Given the description of an element on the screen output the (x, y) to click on. 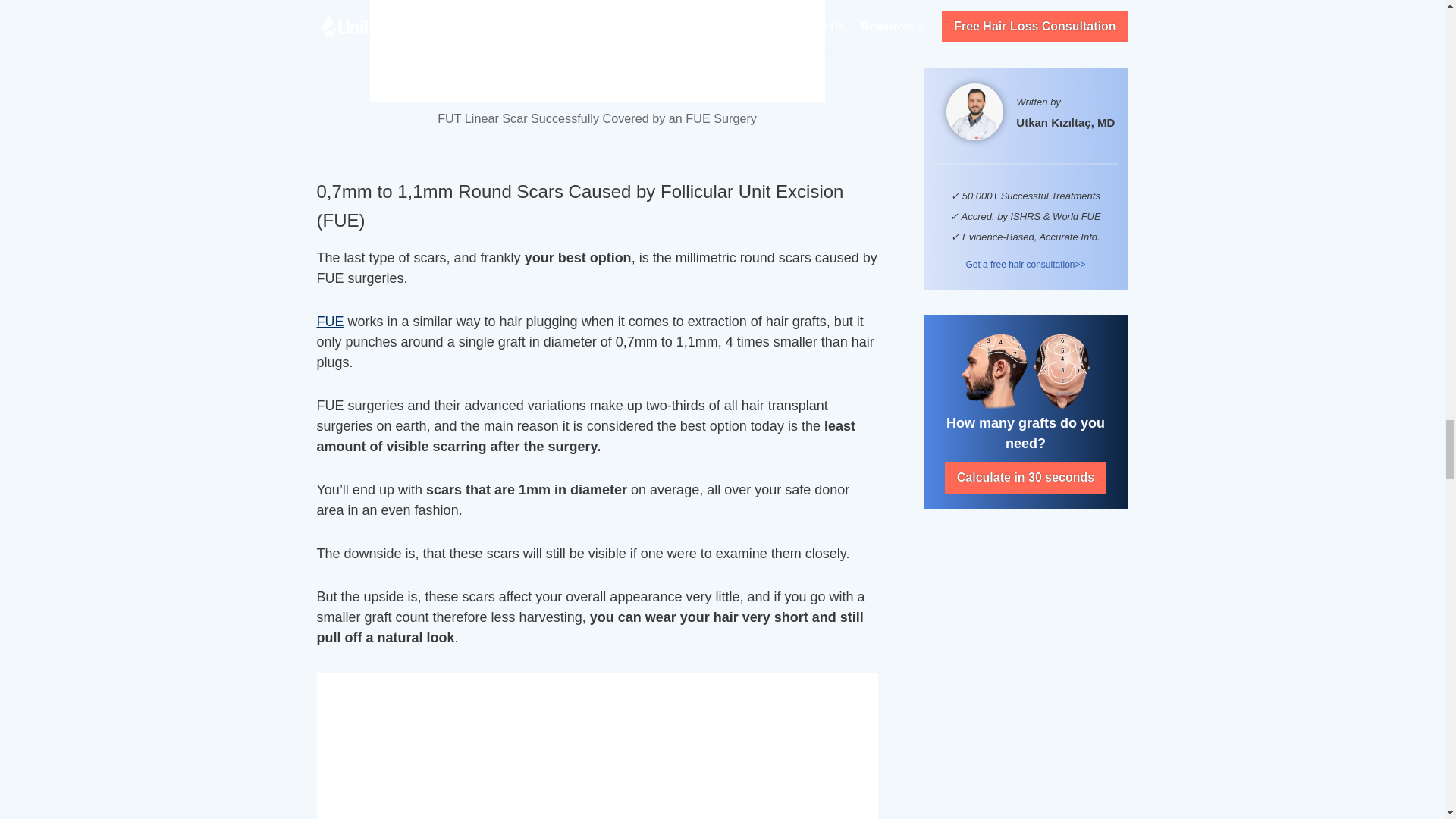
FUE (330, 321)
